Given the description of an element on the screen output the (x, y) to click on. 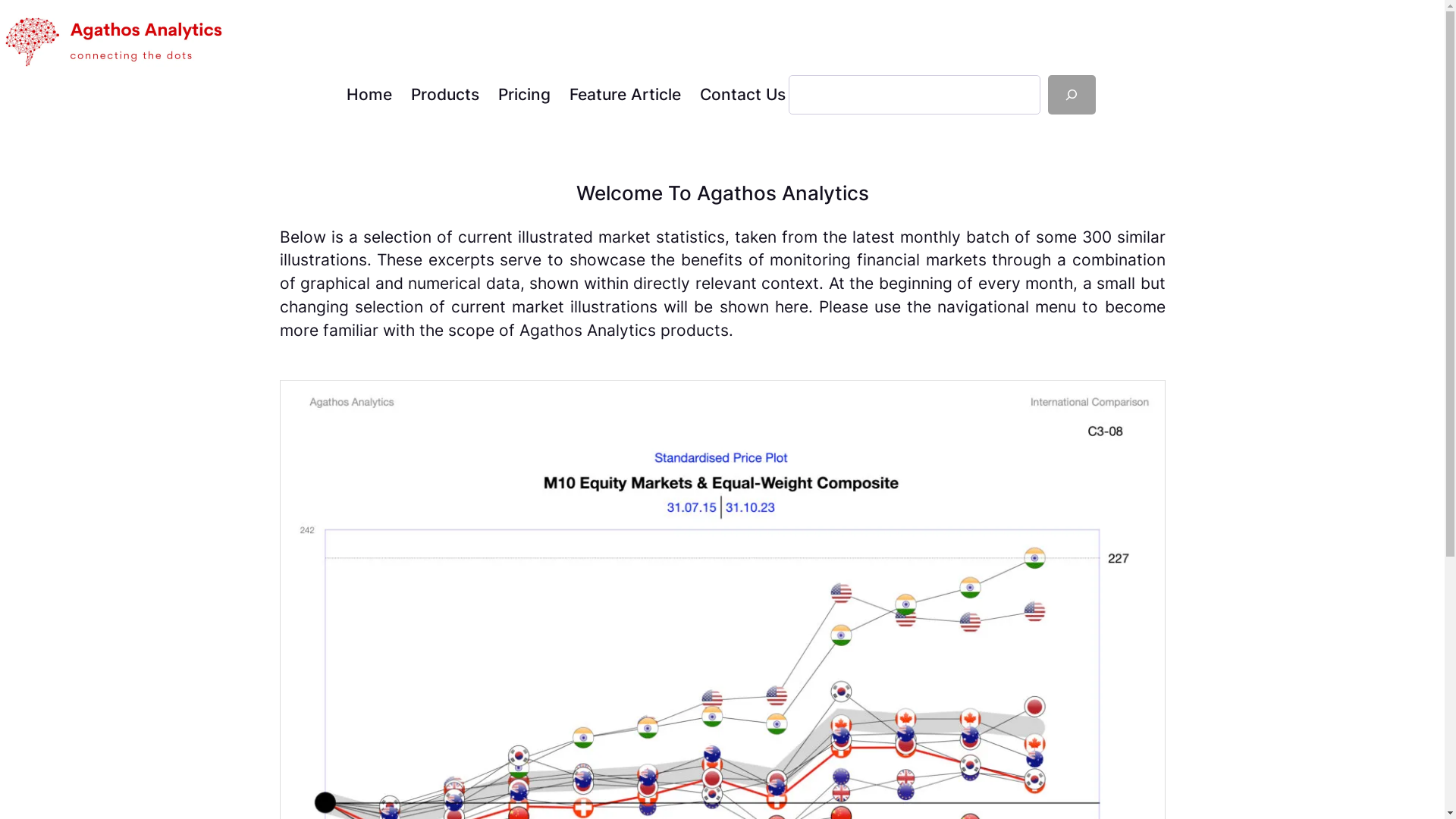
Products Element type: text (445, 94)
Home Element type: text (368, 94)
Pricing Element type: text (523, 94)
Contact Us Element type: text (741, 94)
Feature Article Element type: text (624, 94)
